Given the description of an element on the screen output the (x, y) to click on. 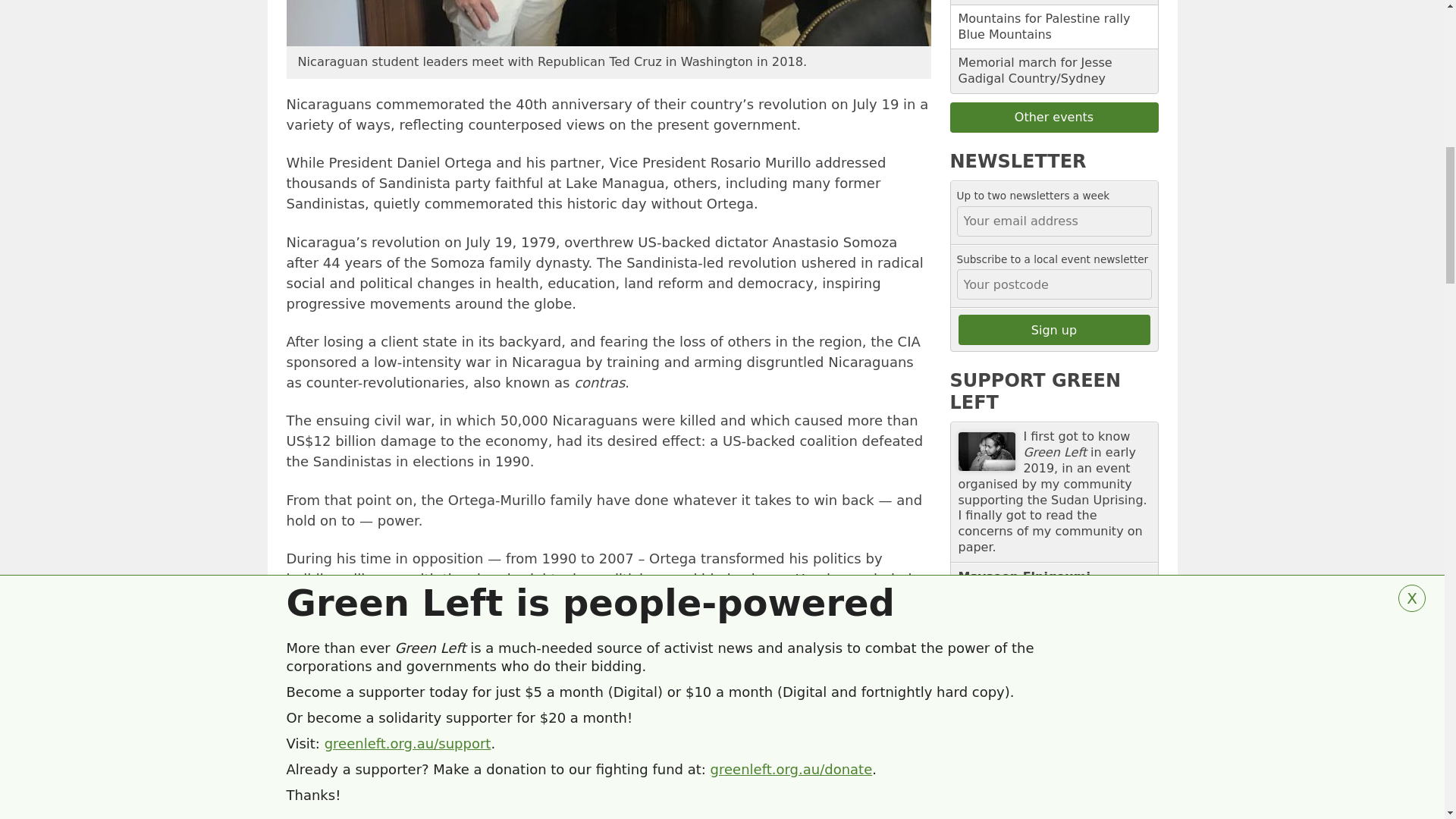
Sign up (1054, 329)
